Given the description of an element on the screen output the (x, y) to click on. 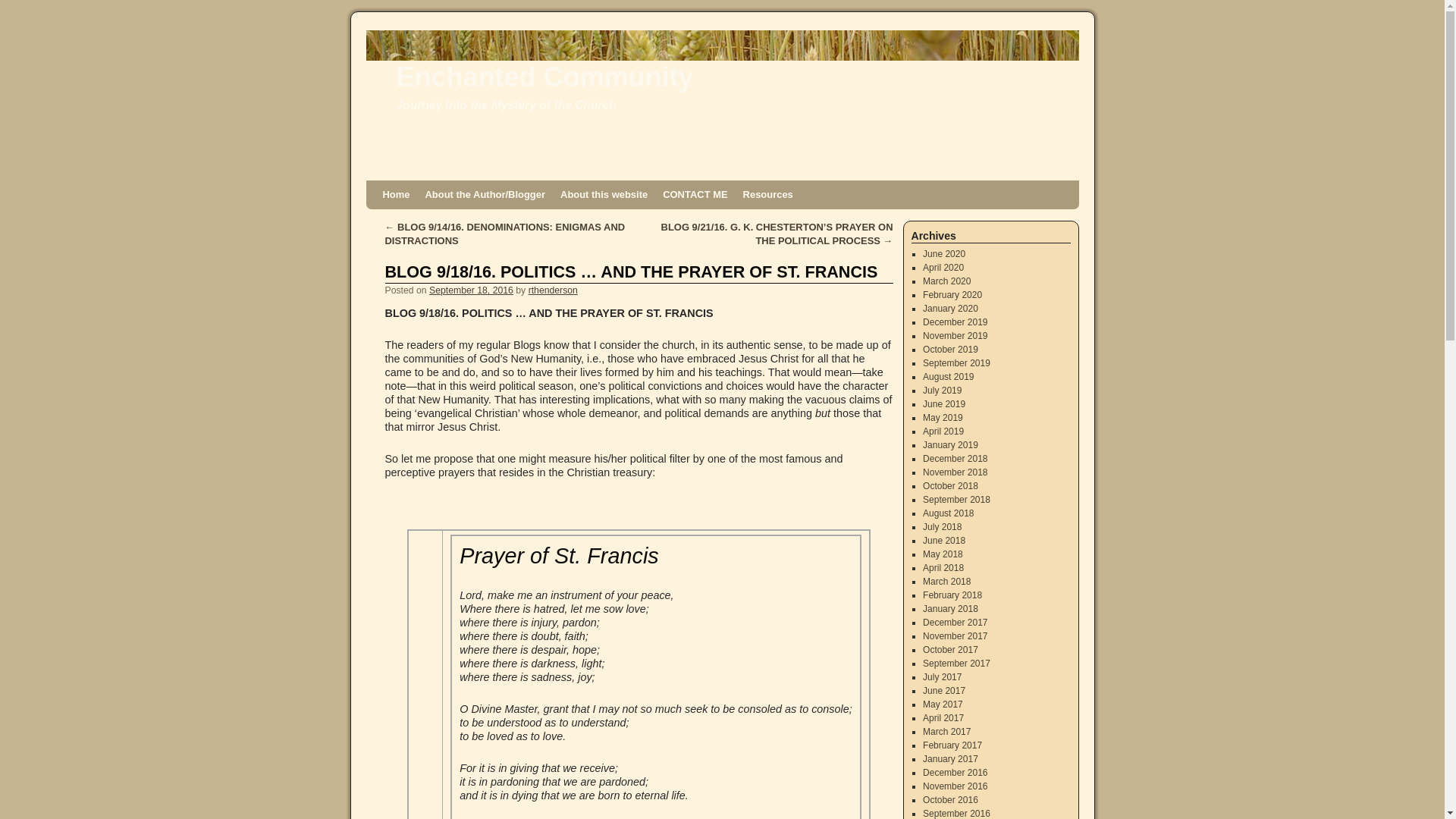
November 2018 (955, 471)
2:48 pm (471, 290)
July 2019 (941, 389)
August 2019 (948, 376)
March 2020 (947, 281)
April 2019 (943, 430)
January 2019 (950, 444)
October 2018 (950, 485)
June 2019 (944, 403)
September 18, 2016 (471, 290)
